Given the description of an element on the screen output the (x, y) to click on. 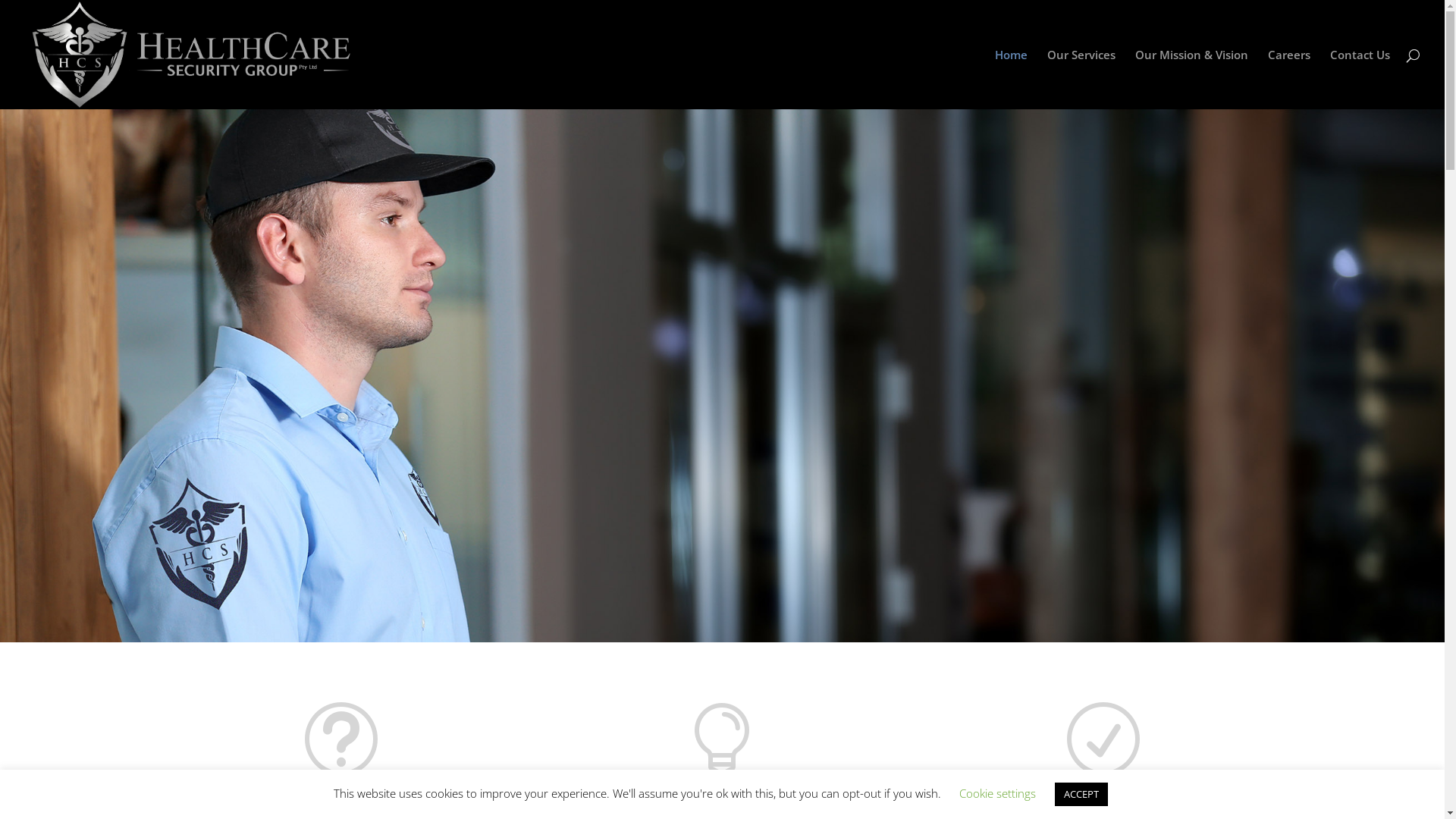
security-guard-guarding-2 Element type: hover (722, 375)
Home Element type: text (1010, 79)
ACCEPT Element type: text (1080, 794)
Cookie settings Element type: text (996, 792)
Contact Us Element type: text (1360, 79)
Our Services Element type: text (1081, 79)
Our Mission & Vision Element type: text (1191, 79)
Careers Element type: text (1288, 79)
